Given the description of an element on the screen output the (x, y) to click on. 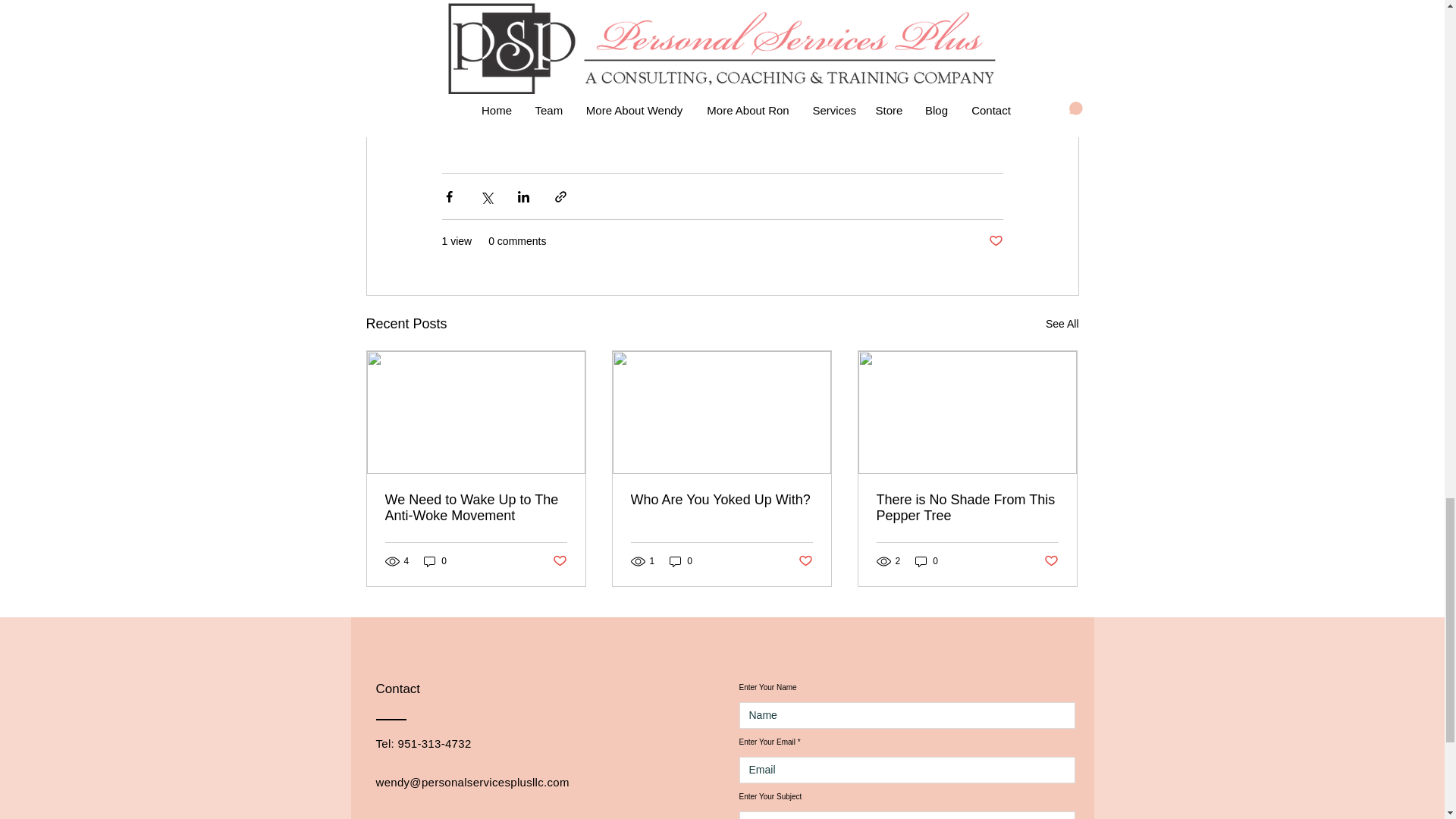
0 (435, 561)
0 (681, 561)
Post not marked as liked (995, 241)
www.forgivingforliving.org (733, 83)
Post not marked as liked (558, 561)
Who Are You Yoked Up With? (721, 499)
See All (1061, 323)
www.WendyGladney.com (547, 83)
We Need to Wake Up to The Anti-Woke Movement (476, 508)
There is No Shade From This Pepper Tree (967, 508)
Post not marked as liked (804, 561)
0 (926, 561)
Post not marked as liked (1050, 561)
